Given the description of an element on the screen output the (x, y) to click on. 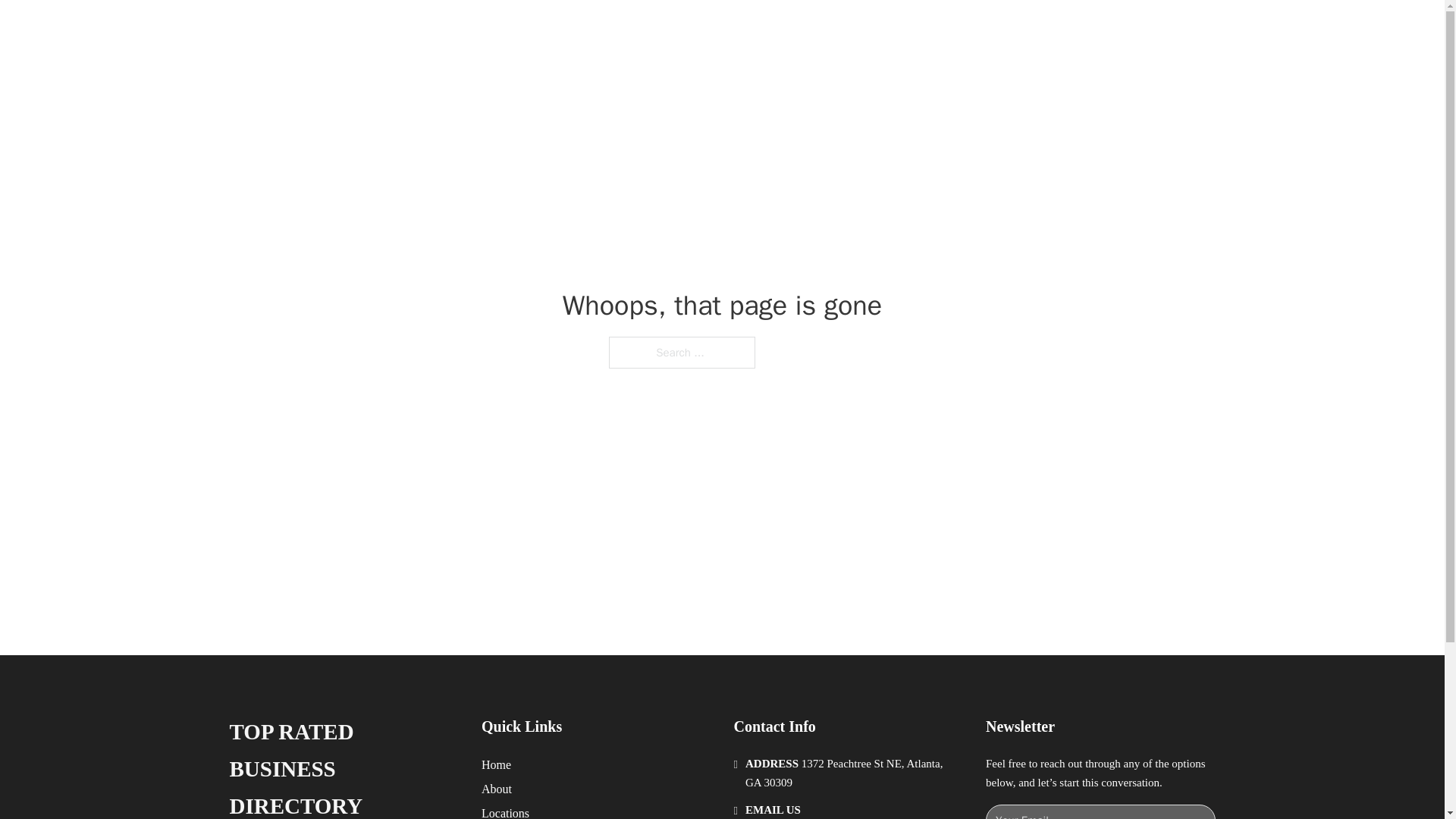
About (496, 788)
TOP RATED BUSINESS DIRECTORY (343, 766)
TOP RATED BUSINESS DIRECTORY (475, 28)
Locations (505, 811)
Home (496, 764)
